Given the description of an element on the screen output the (x, y) to click on. 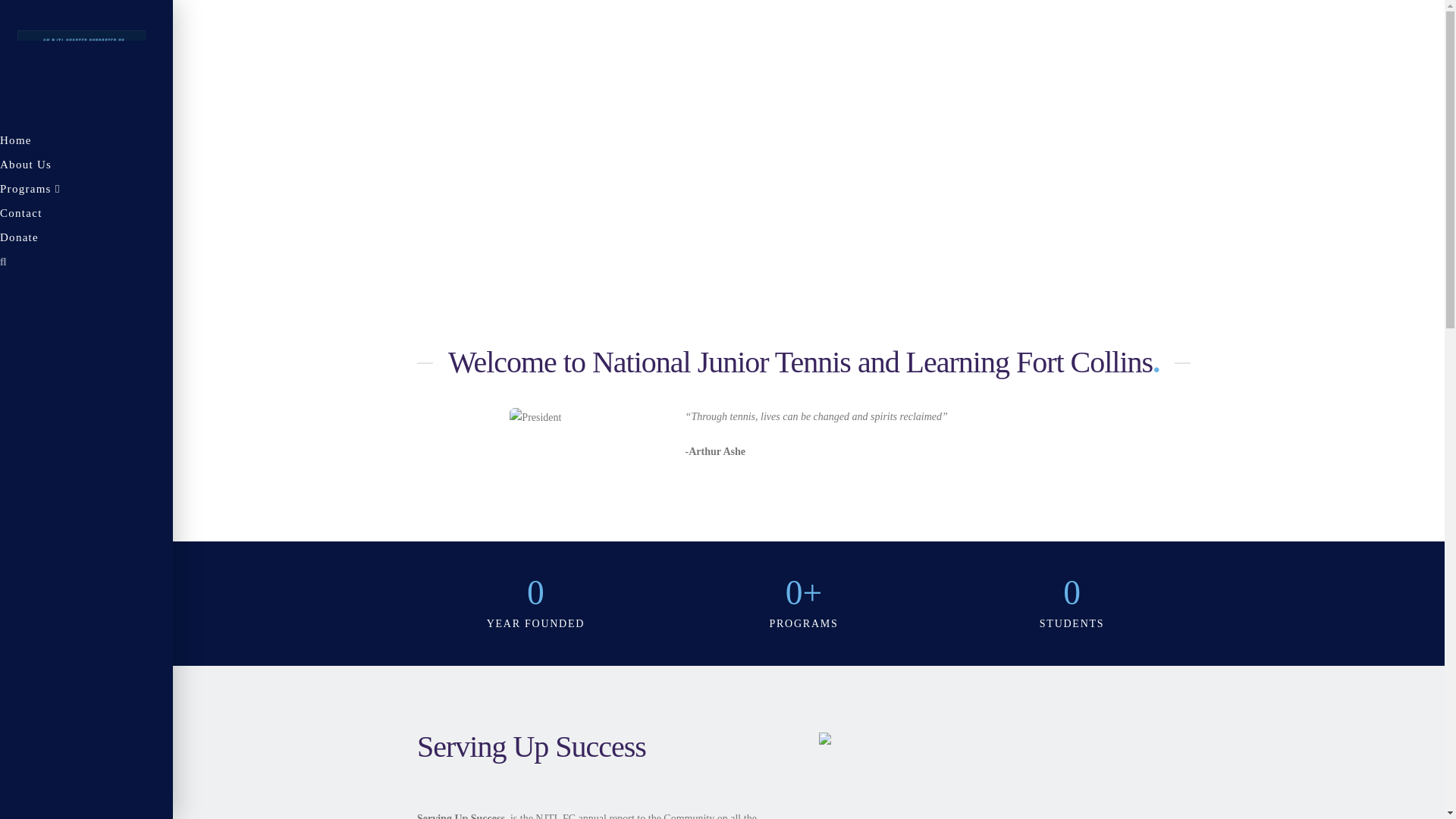
Contact (86, 215)
Admissions (86, 191)
About (86, 166)
Donate (86, 239)
Home (86, 142)
Contact (86, 215)
Programs (86, 191)
About Us (86, 166)
Home (86, 142)
